Given the description of an element on the screen output the (x, y) to click on. 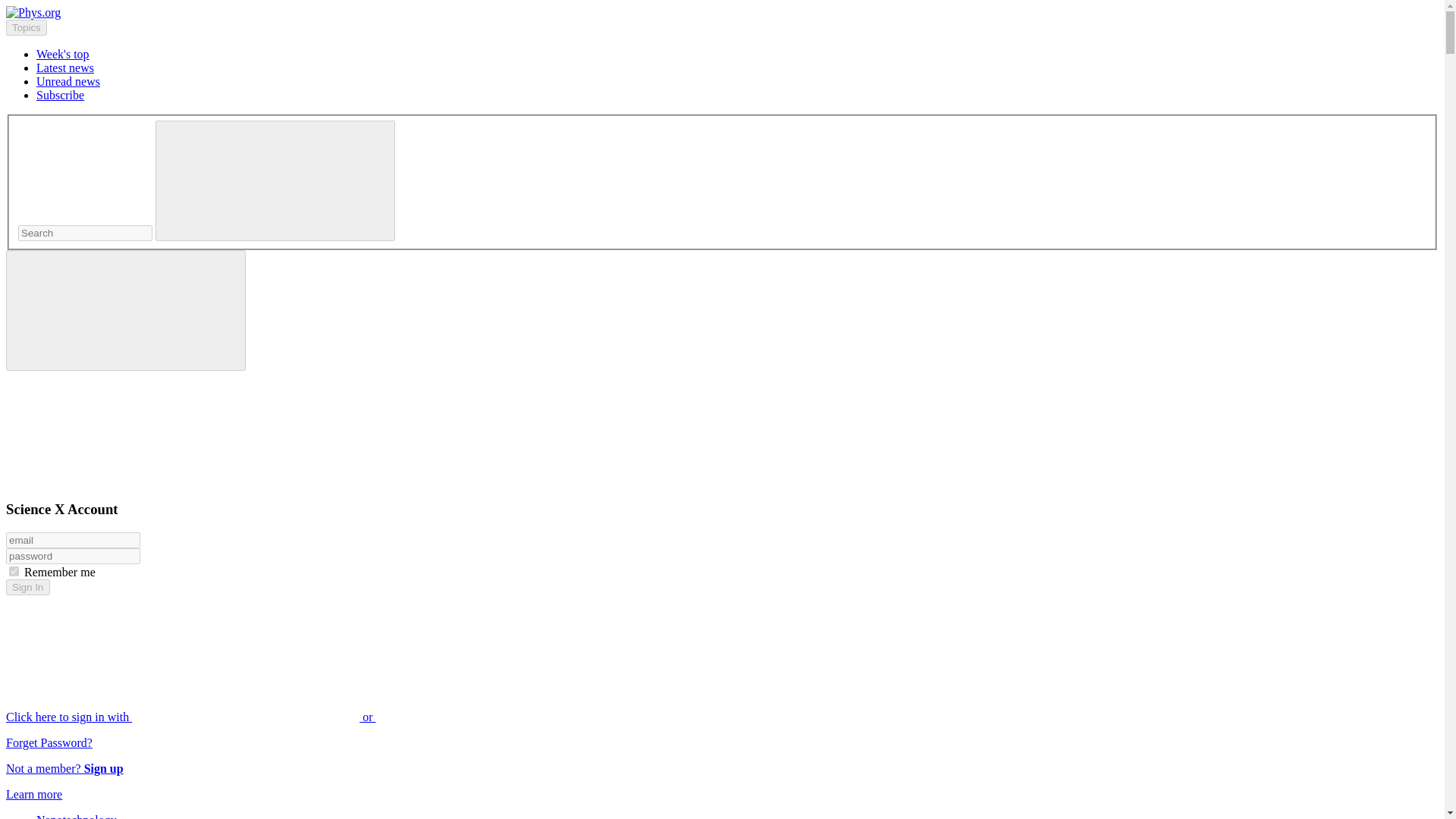
Sign In (27, 587)
on (13, 571)
Nanotechnology (76, 816)
Click here to sign in with or (304, 716)
Forget Password? (49, 742)
Learn more (33, 793)
Topics (25, 27)
Subscribe (60, 94)
Week's top (62, 53)
Not a member? Sign up (64, 768)
